Given the description of an element on the screen output the (x, y) to click on. 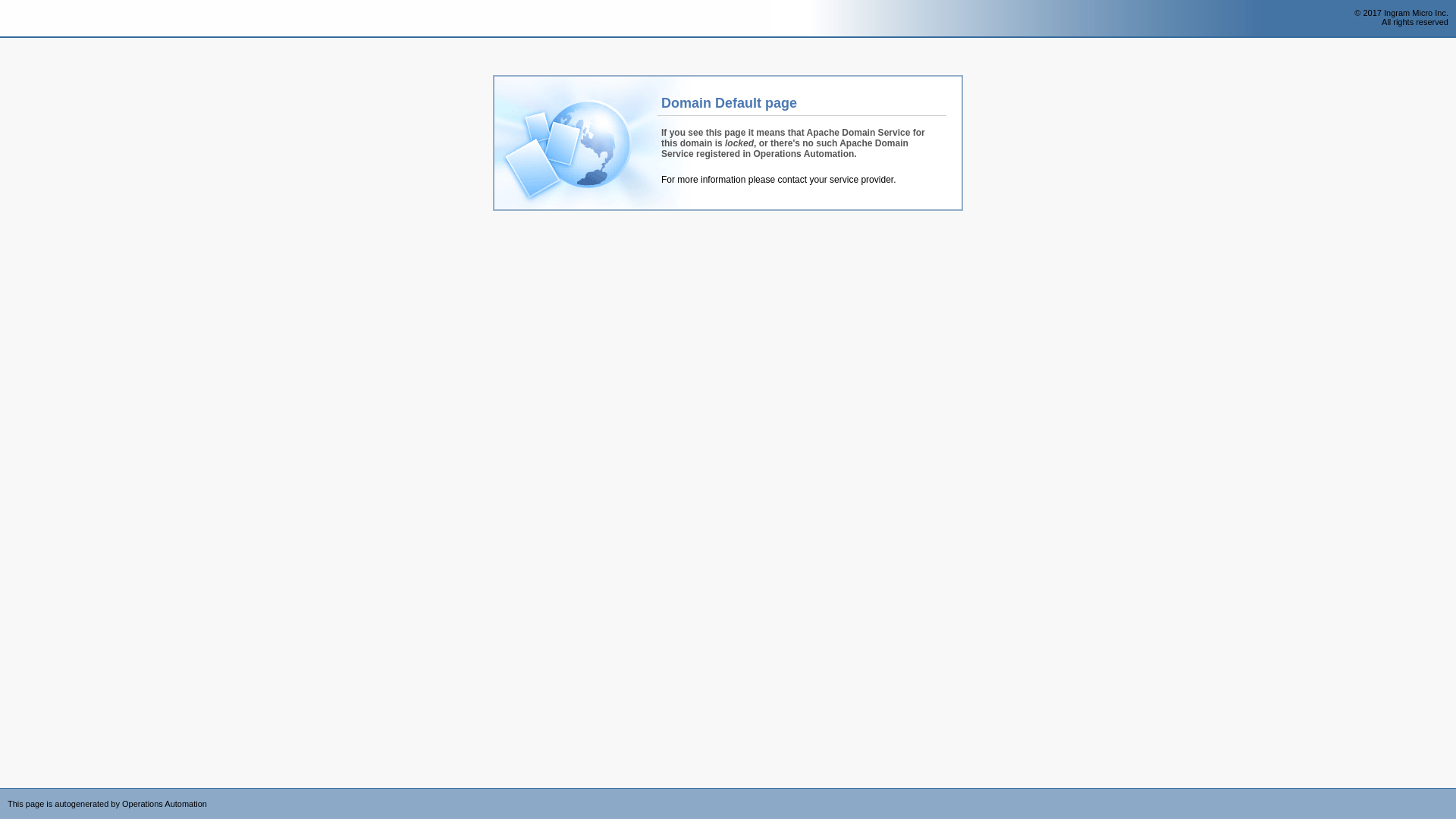
Powered by CloudBlue Commerce Element type: hover (1447, 792)
Operations Automation Element type: text (39, 18)
